Given the description of an element on the screen output the (x, y) to click on. 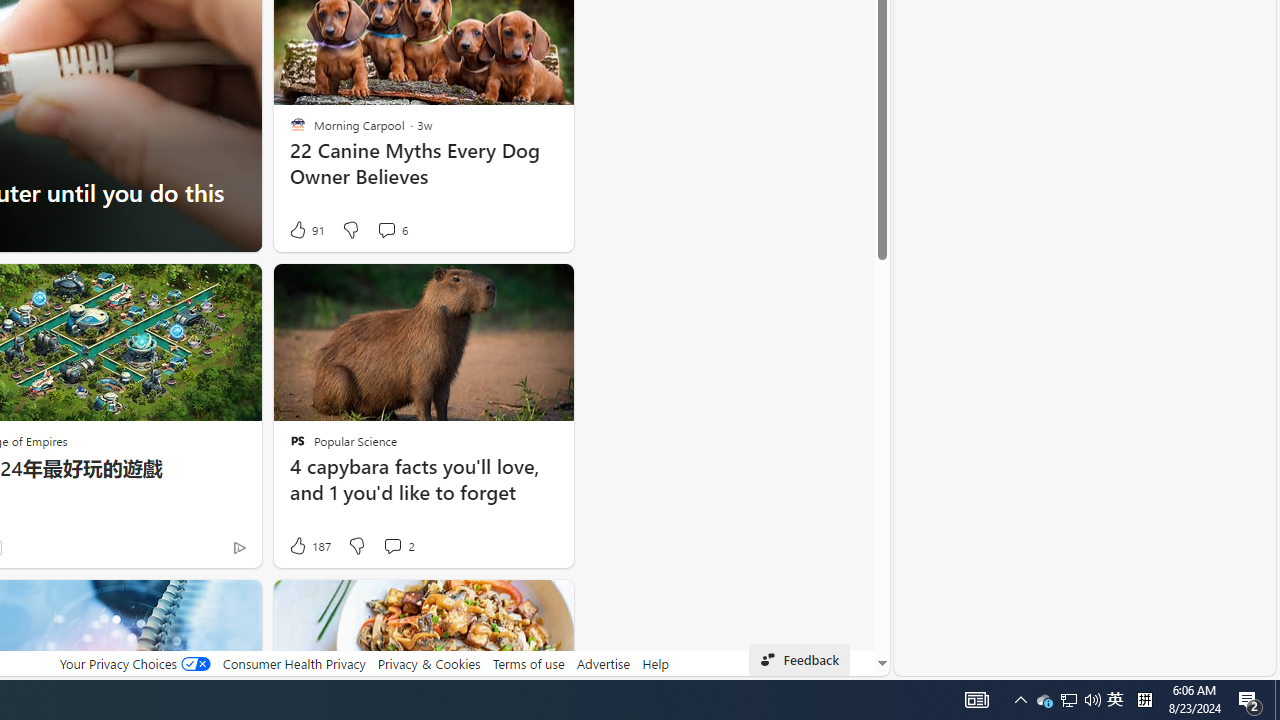
View comments 6 Comment (386, 229)
